Given the description of an element on the screen output the (x, y) to click on. 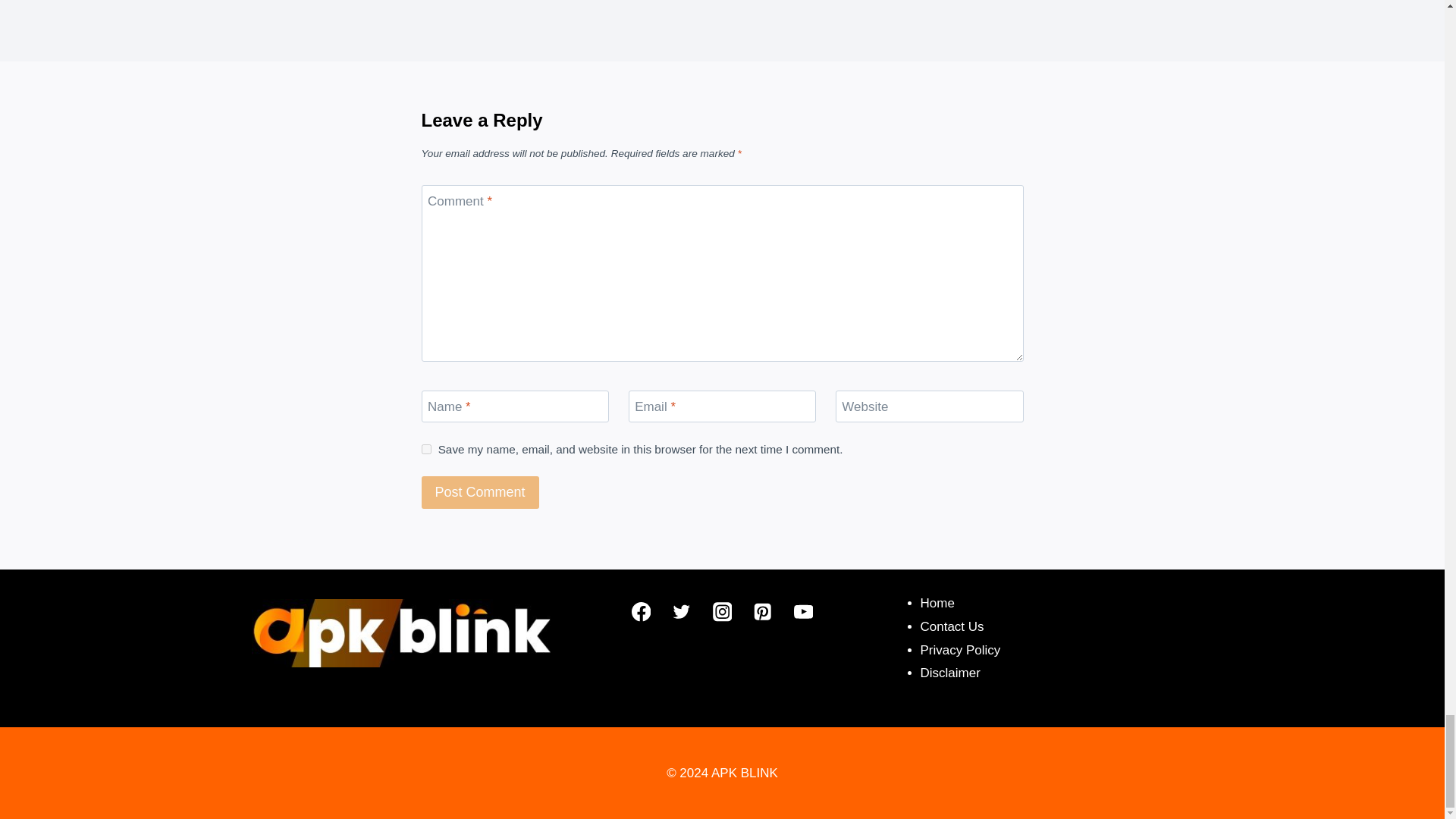
Post Comment (480, 491)
yes (426, 449)
